Given the description of an element on the screen output the (x, y) to click on. 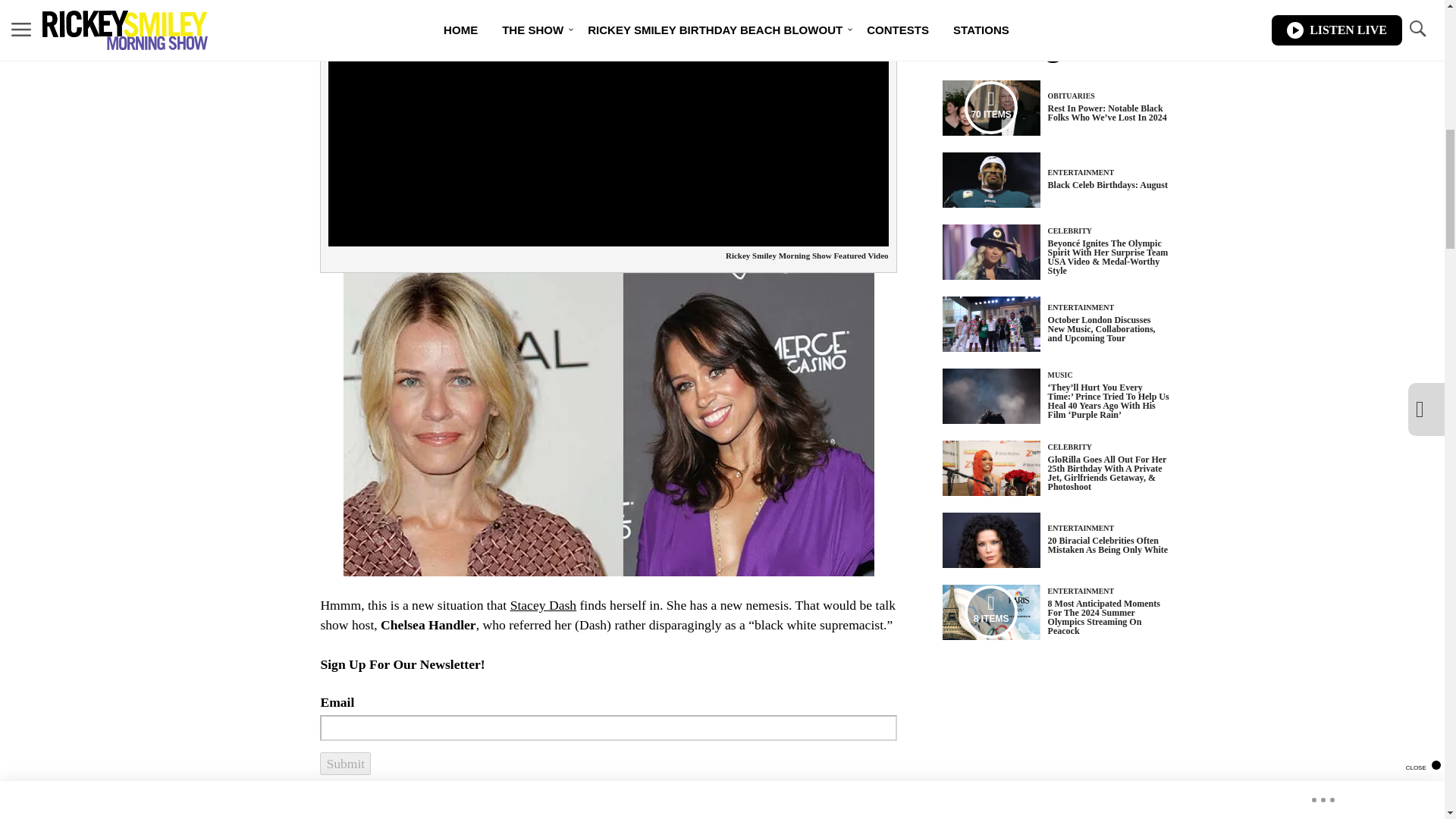
Submit (345, 763)
Media Playlist (990, 107)
Media Playlist (990, 611)
Stacey Dash (543, 604)
